Given the description of an element on the screen output the (x, y) to click on. 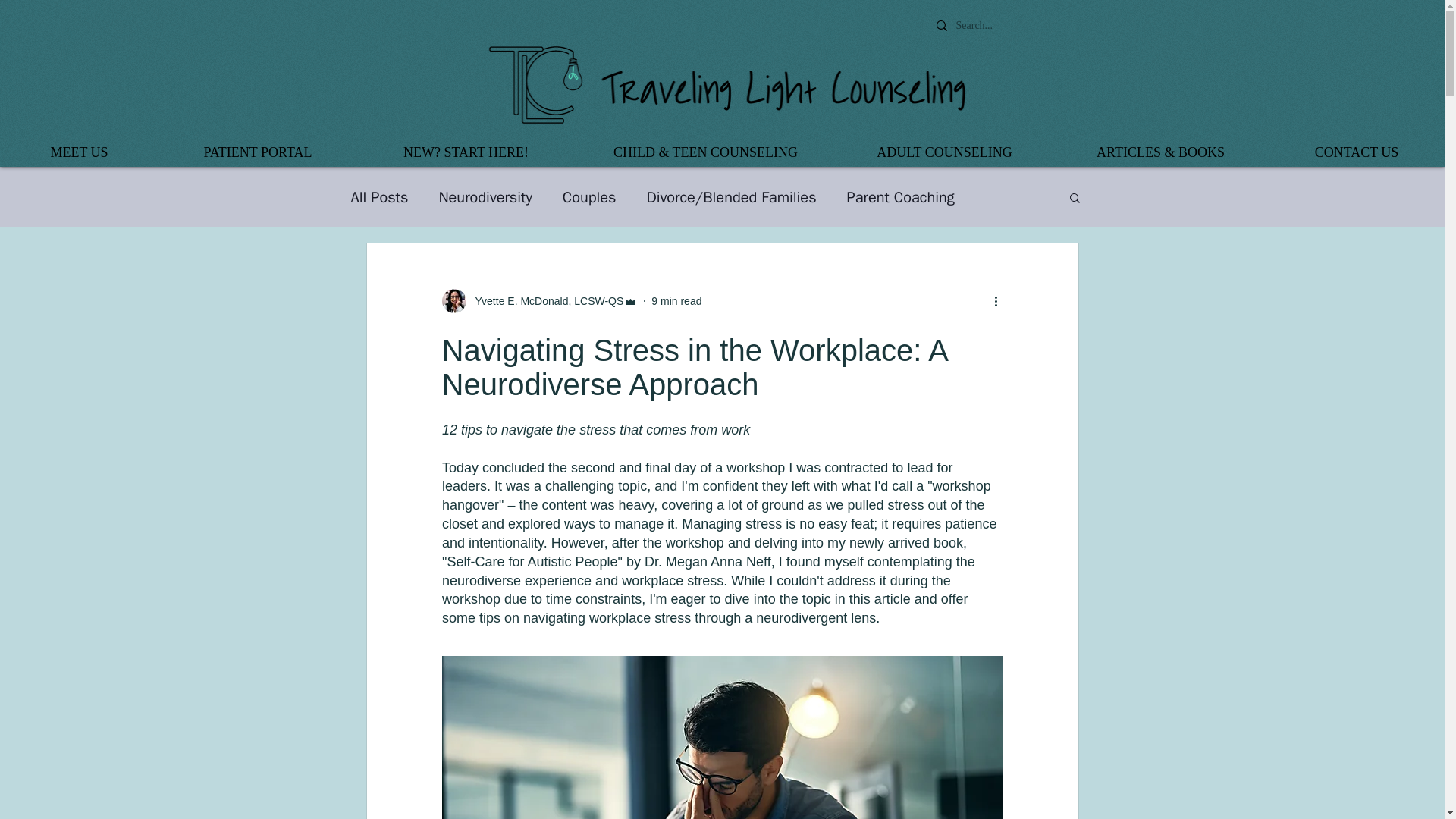
Couples (588, 196)
Neurodiversity (484, 196)
PATIENT PORTAL (257, 152)
All Posts (378, 196)
9 min read (675, 300)
Yvette E. McDonald, LCSW-QS (544, 300)
